Given the description of an element on the screen output the (x, y) to click on. 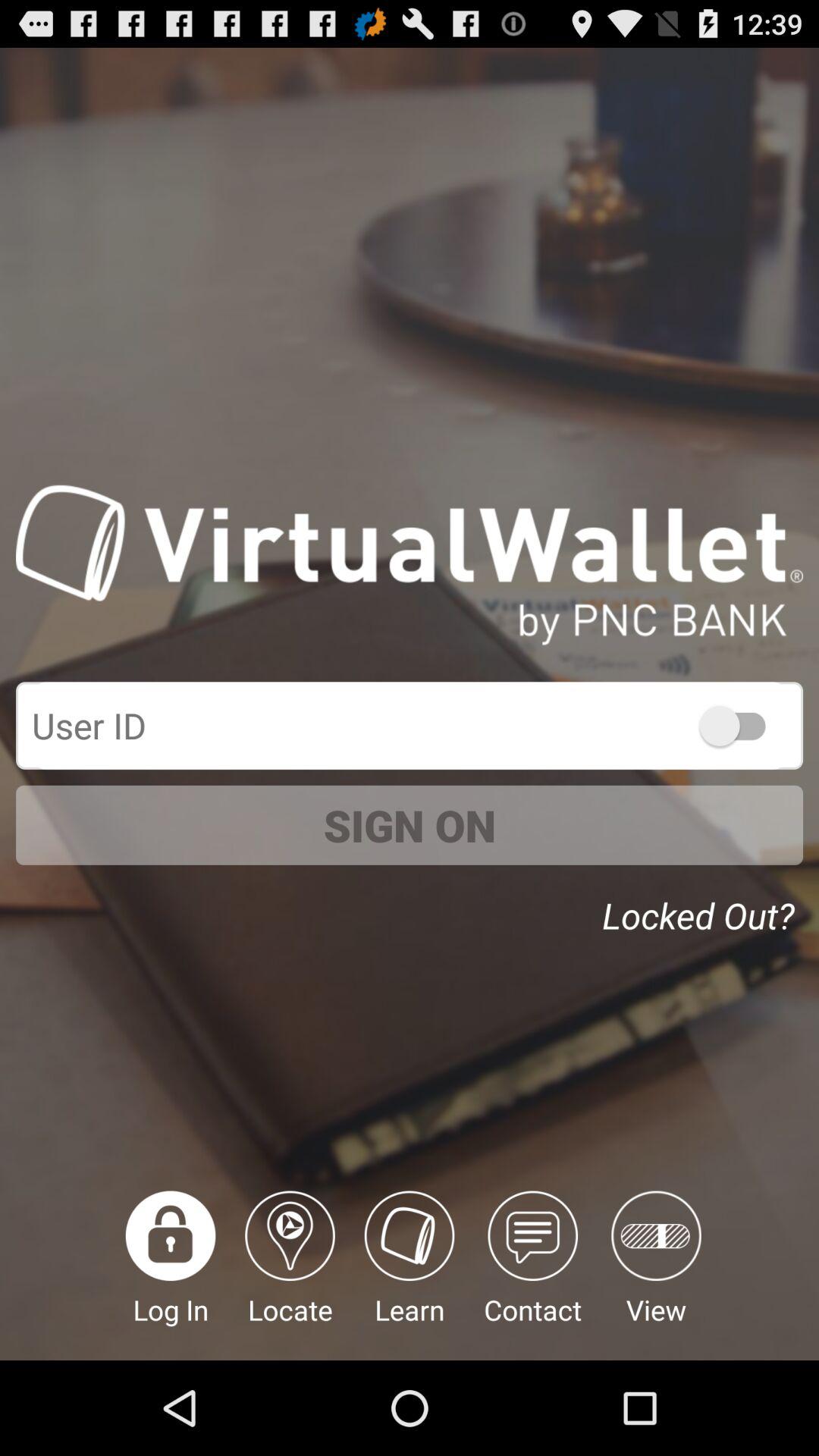
select contact item (532, 1275)
